Given the description of an element on the screen output the (x, y) to click on. 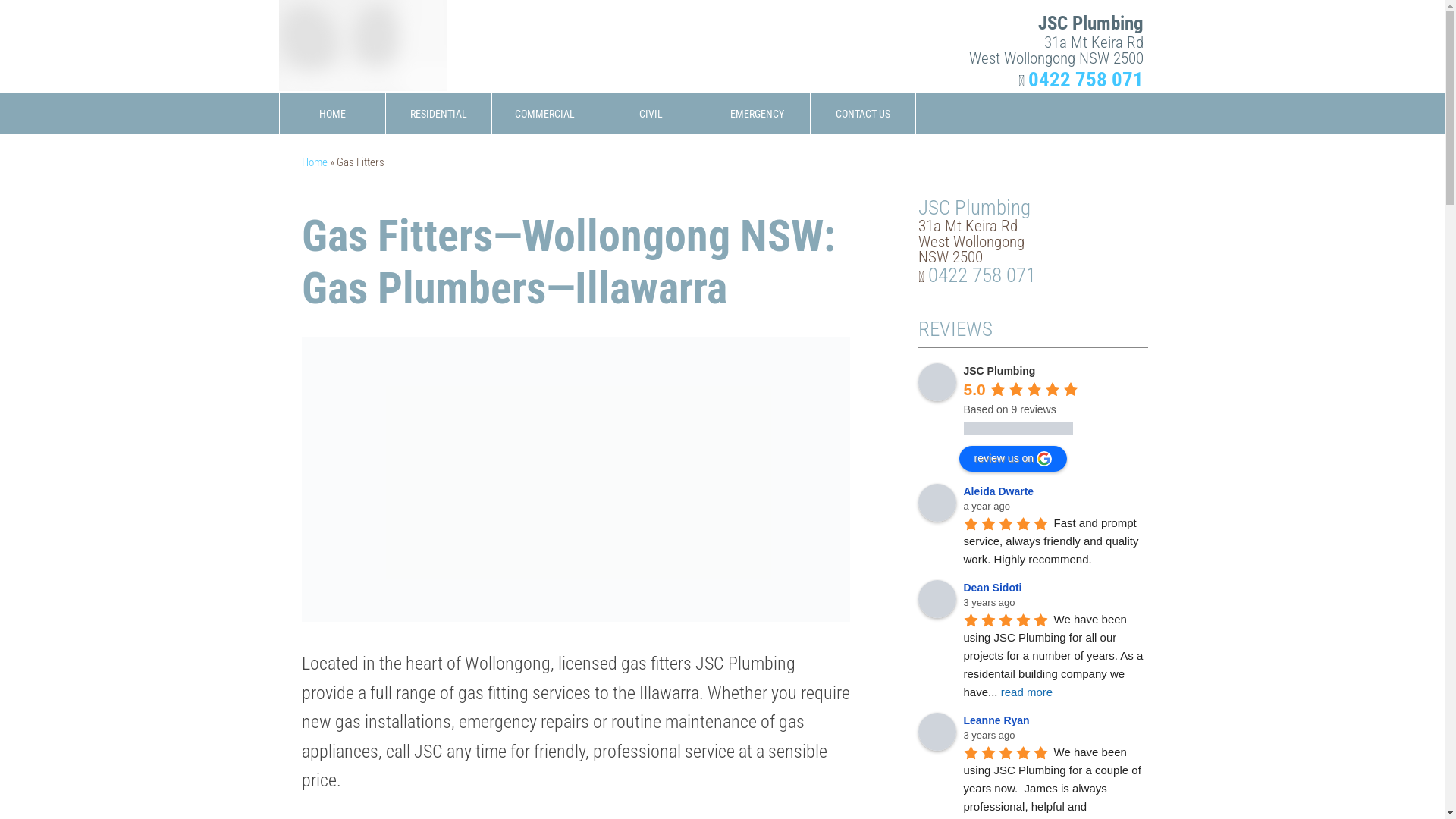
review us on Element type: text (1012, 458)
Home Element type: text (314, 162)
JSC Plumbing Element type: text (999, 370)
HOME Element type: text (331, 113)
COMMERCIAL Element type: text (543, 113)
Leanne Ryan Element type: text (998, 720)
Dean Sidoti Element type: hover (936, 599)
Leanne Ryan Element type: hover (936, 731)
0422 758 071 Element type: text (981, 275)
EMERGENCY Element type: text (756, 113)
0422 758 071 Element type: text (1085, 79)
Dean Sidoti Element type: text (994, 587)
Aleida Dwarte Element type: text (1000, 491)
CIVIL Element type: text (649, 113)
CONTACT US Element type: text (861, 113)
powered by Google Element type: hover (1017, 428)
RESIDENTIAL Element type: text (437, 113)
Aleida Dwarte Element type: hover (936, 502)
JSC Plumbing Element type: hover (936, 382)
